Given the description of an element on the screen output the (x, y) to click on. 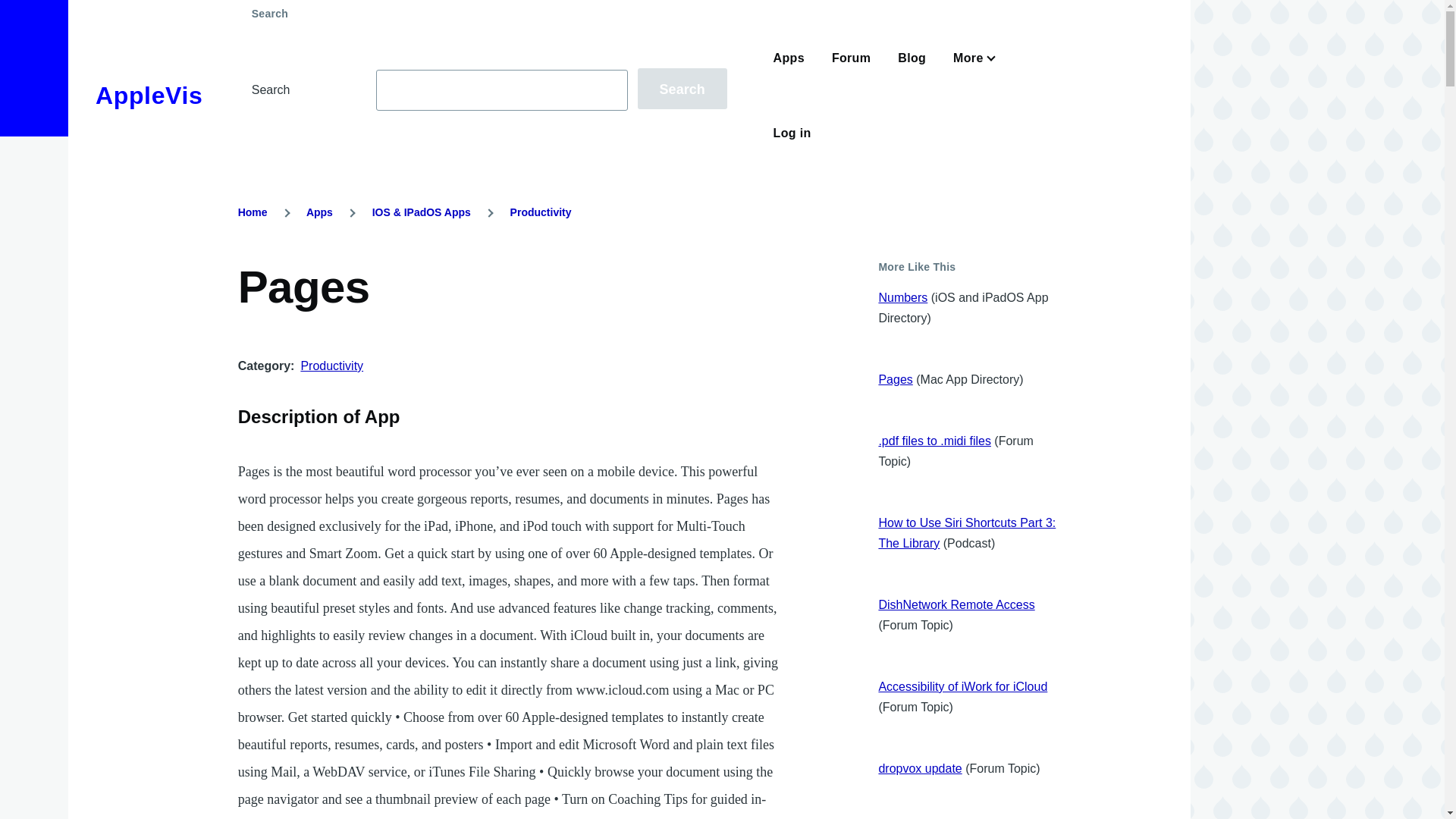
Productivity (330, 365)
Home (252, 212)
Home (149, 94)
AppleVis (149, 94)
Search (681, 87)
Apps (319, 212)
Skip to main content (595, 6)
Productivity (541, 212)
Search (681, 87)
